Given the description of an element on the screen output the (x, y) to click on. 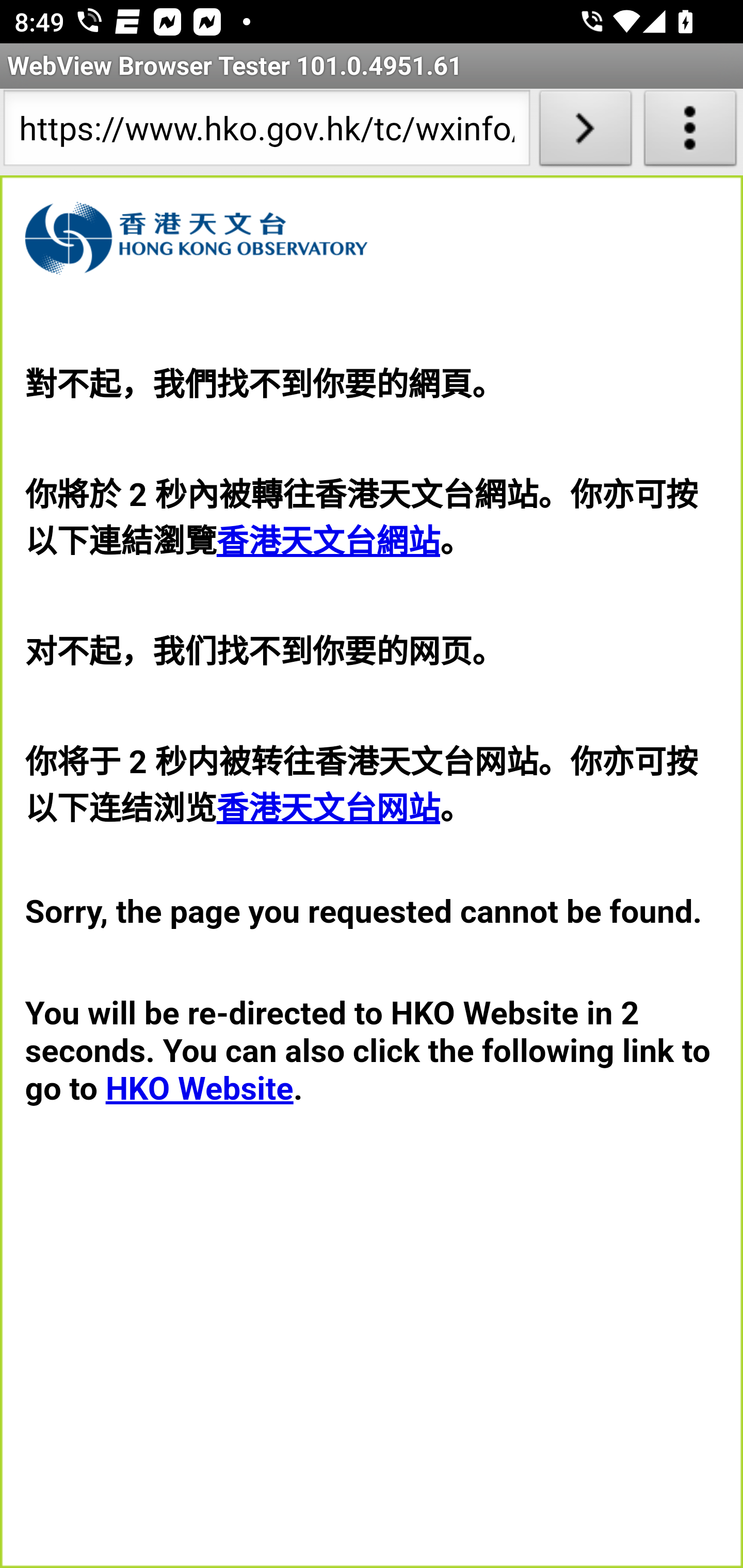
Load URL (585, 132)
About WebView (690, 132)
香港天文台網站 (327, 541)
香港天文台网站 (327, 807)
HKO Website (198, 1088)
